Given the description of an element on the screen output the (x, y) to click on. 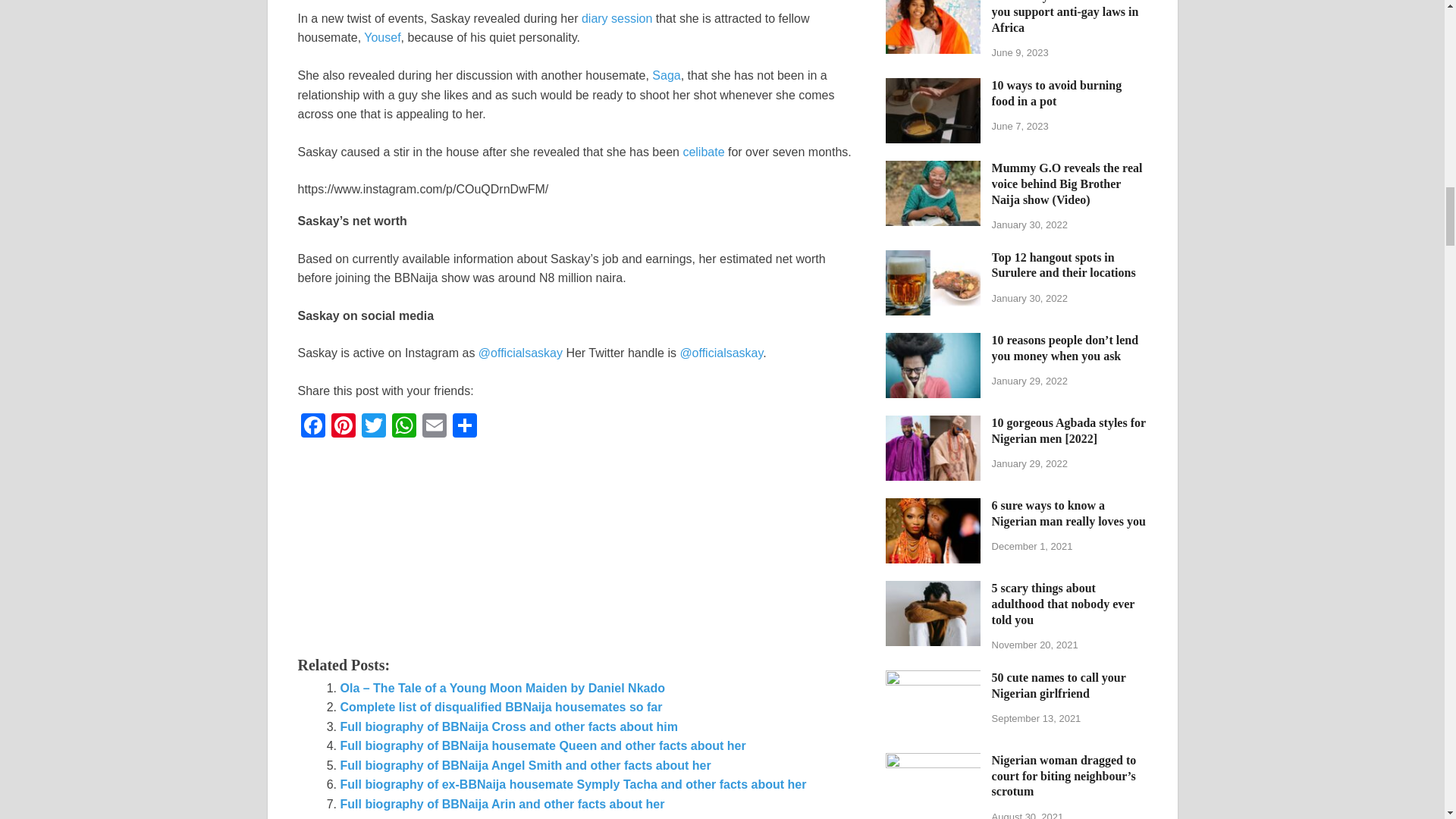
diary session (616, 18)
Yousef (382, 37)
Email (433, 426)
Complete list of disqualified BBNaija housemates so far (500, 707)
Full biography of BBNaija Cross and other facts about him (508, 726)
Pinterest (342, 426)
Twitter (373, 426)
WhatsApp (403, 426)
